Given the description of an element on the screen output the (x, y) to click on. 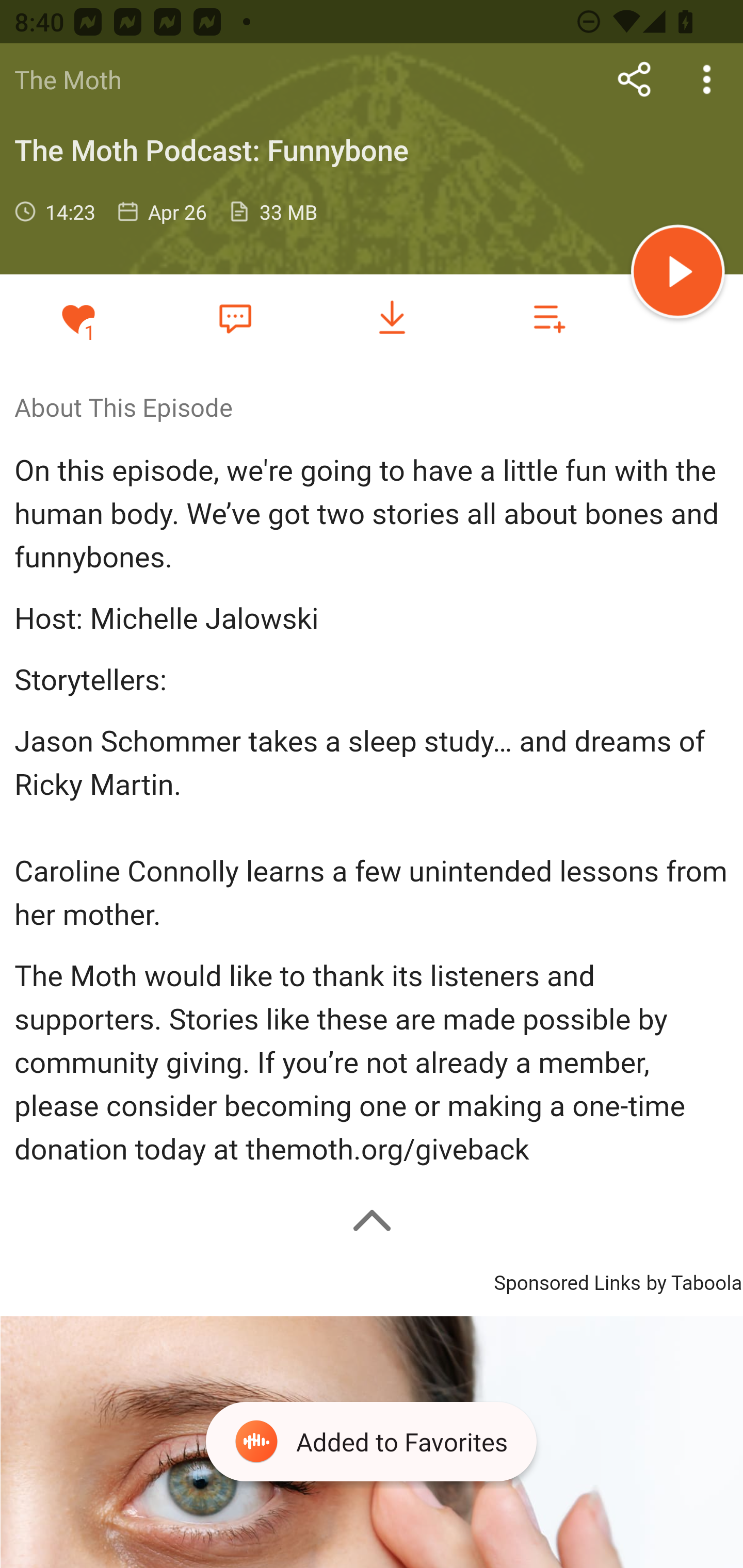
Share (634, 79)
more options (706, 79)
Play (677, 274)
Favorite (234, 317)
Remove from Favorites (78, 317)
Download (391, 317)
Add to playlist (548, 317)
Sponsored Links (566, 1280)
by Taboola (693, 1280)
Image for Taboola Advertising Unit (371, 1441)
